Given the description of an element on the screen output the (x, y) to click on. 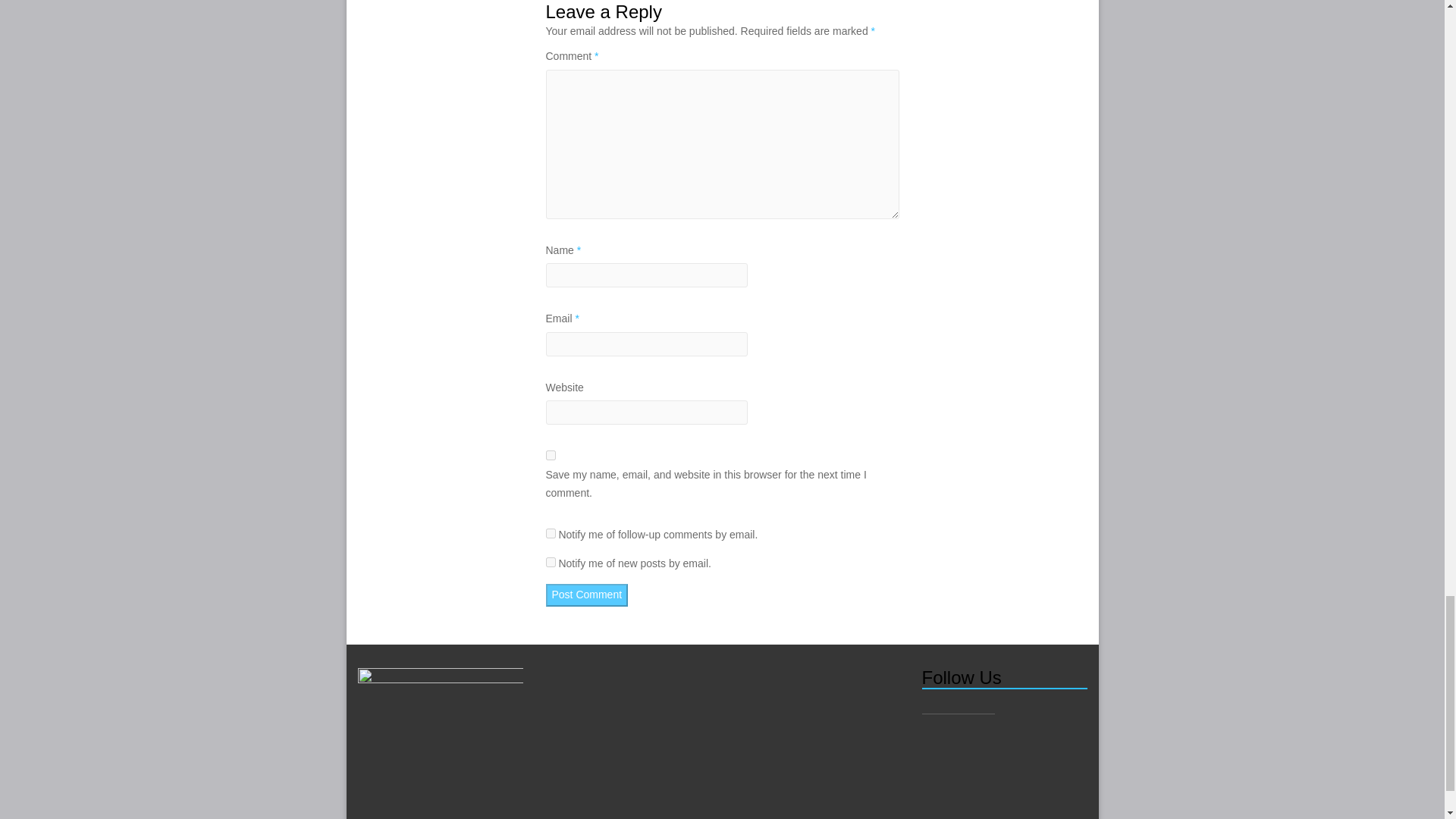
Post Comment (587, 594)
subscribe (551, 533)
yes (551, 455)
subscribe (551, 562)
